Given the description of an element on the screen output the (x, y) to click on. 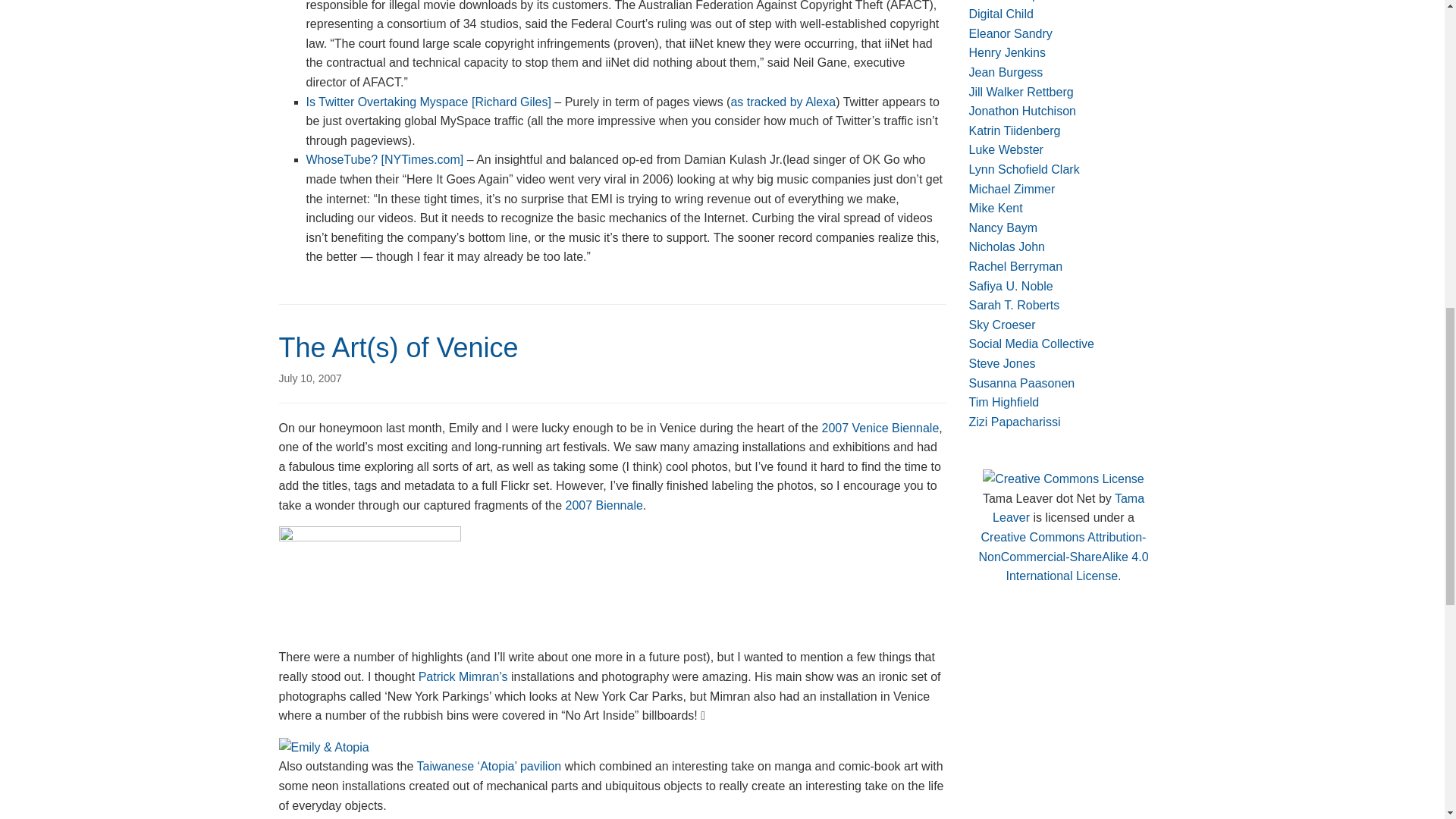
Photo Sharing (370, 585)
Online Fandom (1003, 227)
Photo Sharing (324, 746)
